Given the description of an element on the screen output the (x, y) to click on. 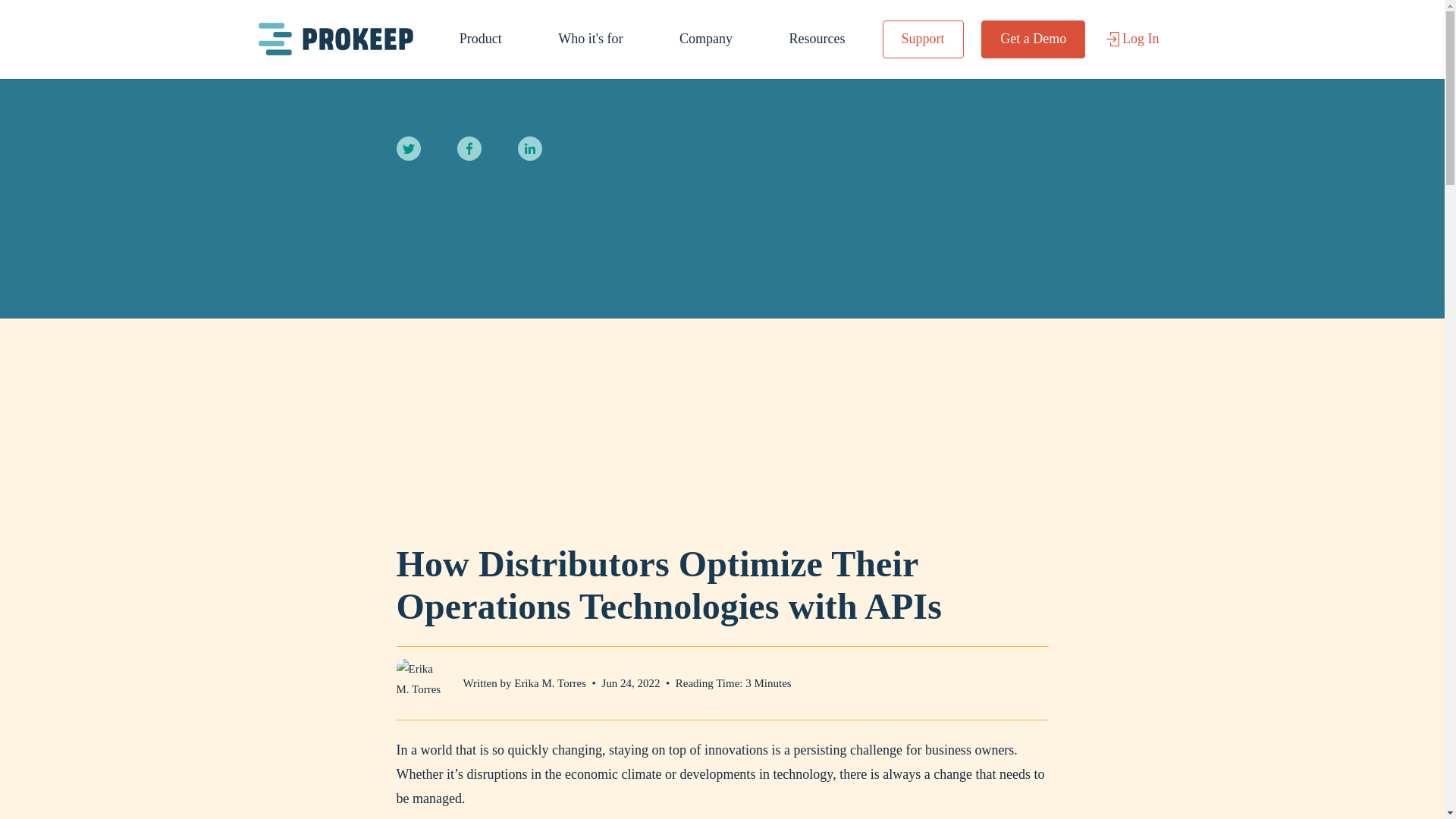
Product (481, 39)
linkedin (528, 148)
twitter (408, 148)
Resources (816, 39)
Prokeep (334, 38)
Get a Demo (1032, 39)
Support (922, 39)
Who it's for (590, 39)
facebook (468, 148)
Company (705, 39)
